Given the description of an element on the screen output the (x, y) to click on. 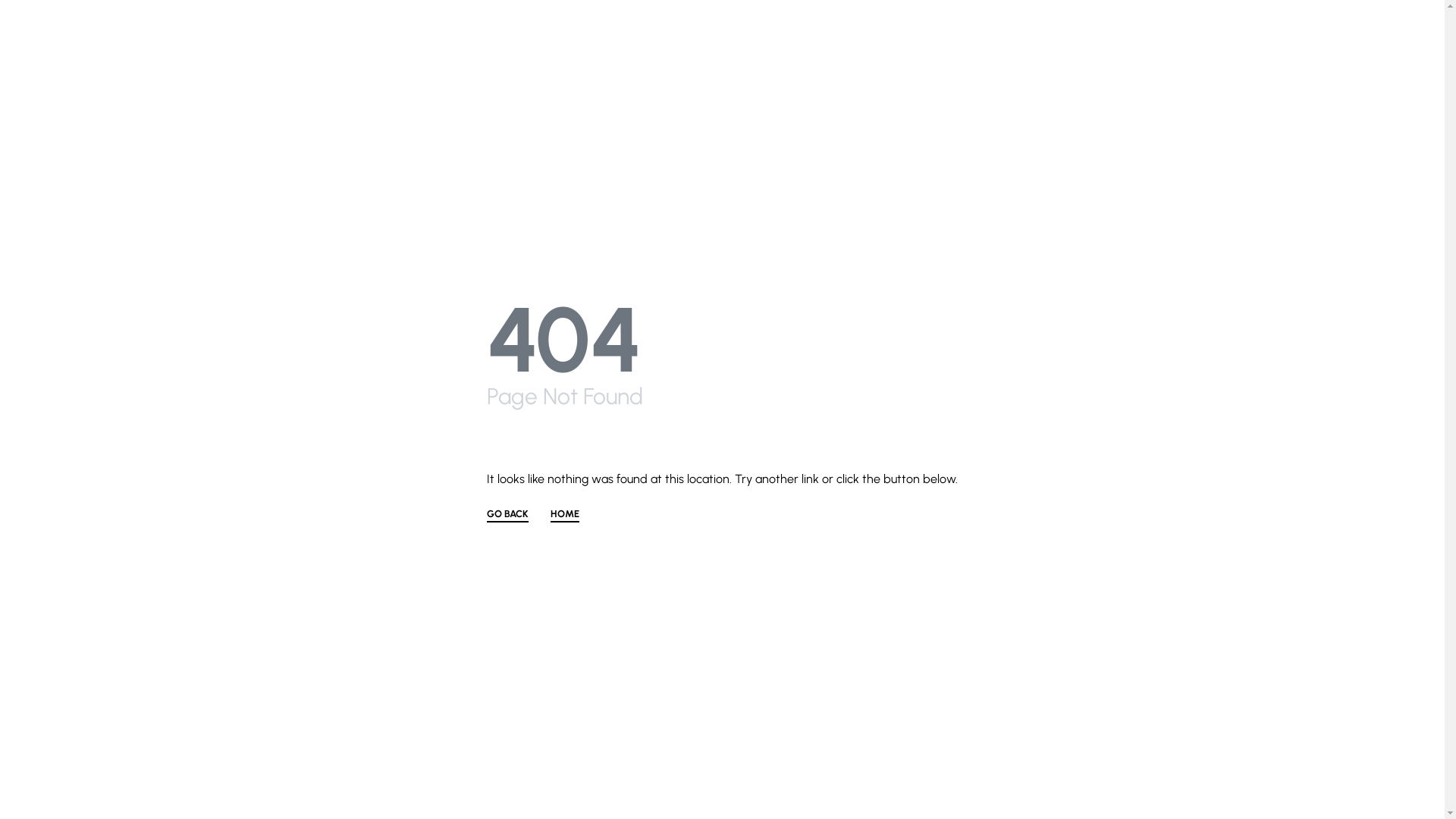
HOME Element type: text (564, 515)
GO BACK Element type: text (507, 515)
